Given the description of an element on the screen output the (x, y) to click on. 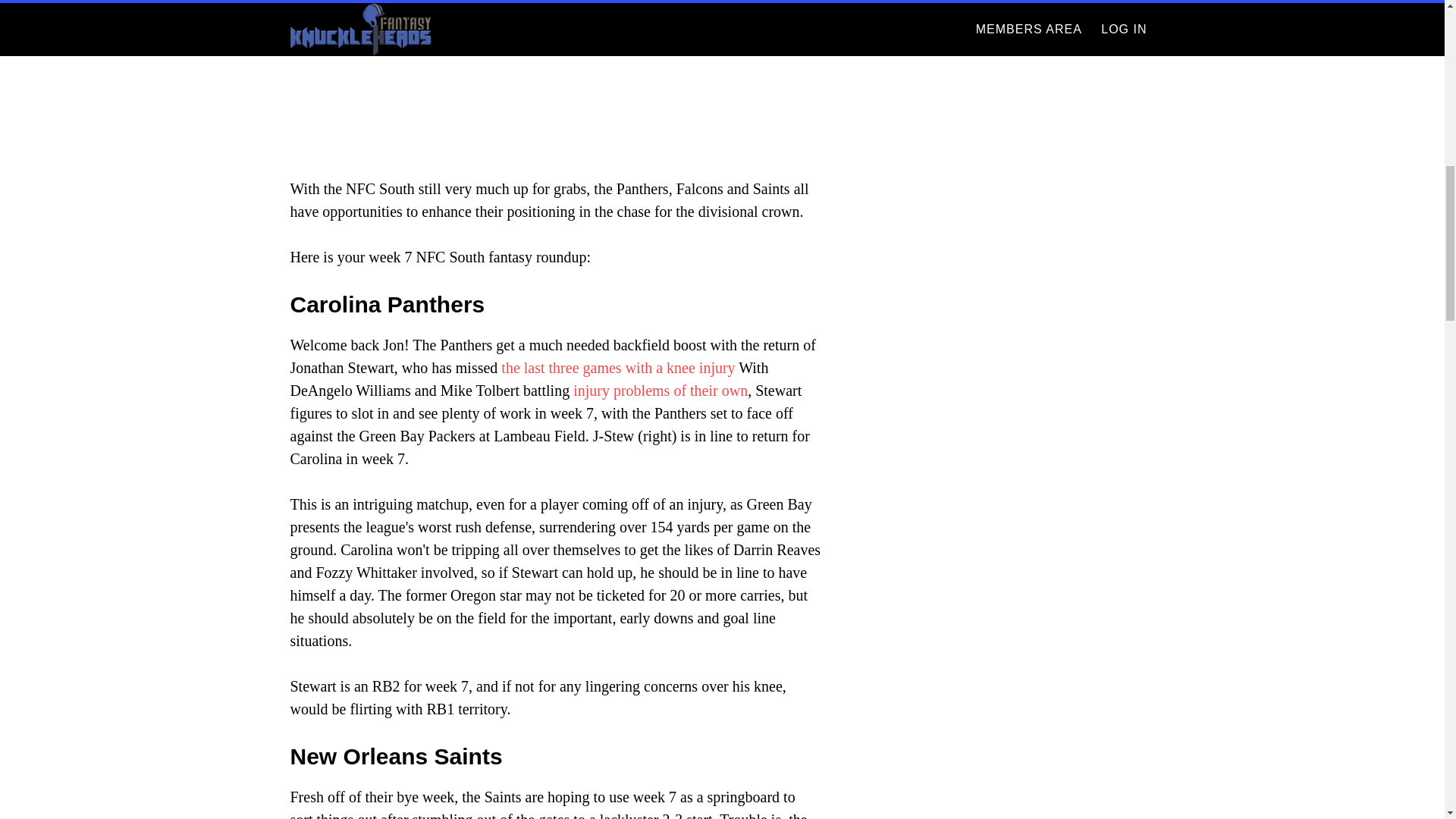
the last three games with a knee injury (617, 367)
injury problems of their own (660, 390)
Advertisement (555, 74)
DeAngelo Williams Set To Return As Stewart, Tolbert Go Down (617, 367)
